Given the description of an element on the screen output the (x, y) to click on. 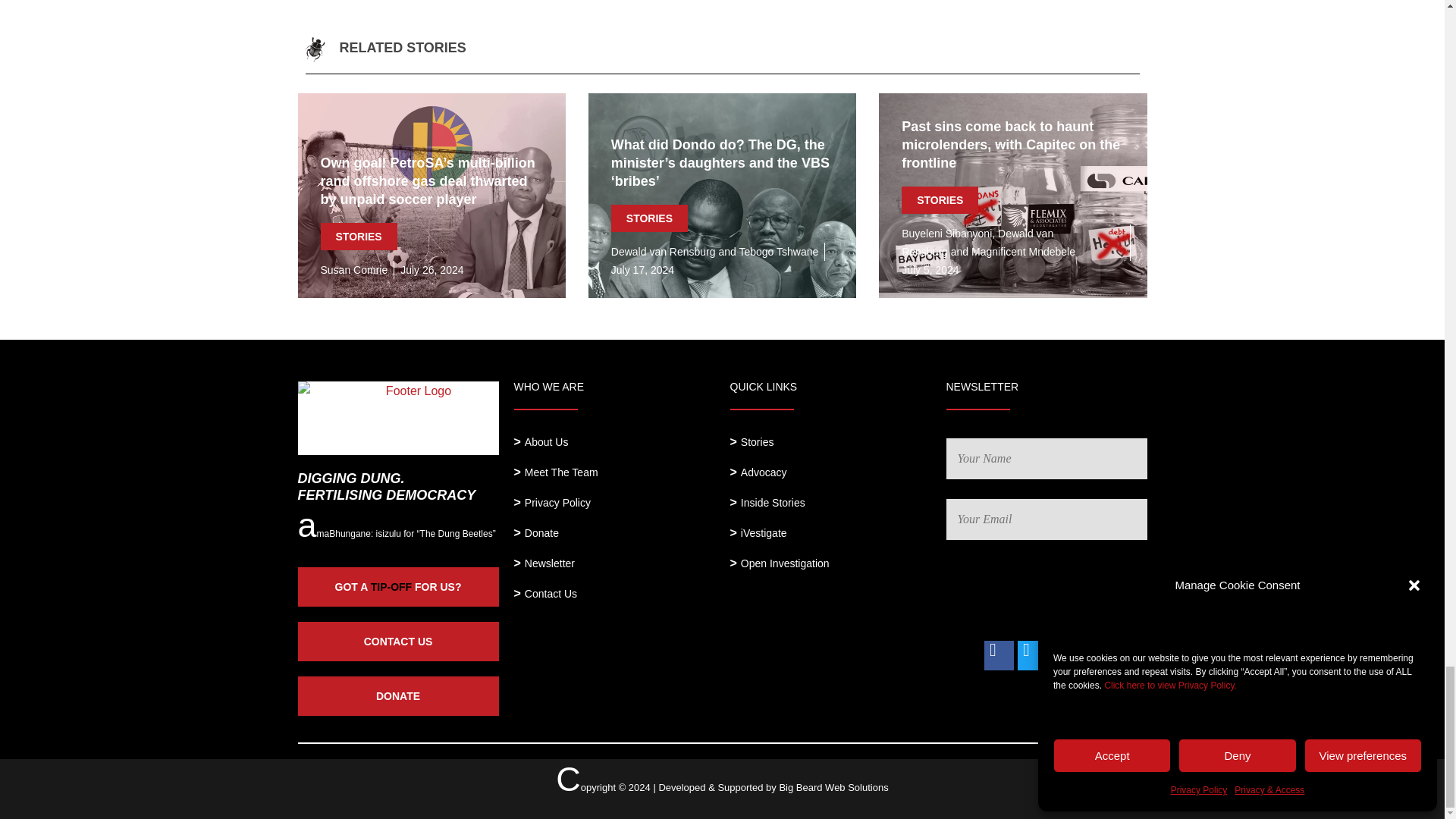
Subscribe (1101, 589)
